Given the description of an element on the screen output the (x, y) to click on. 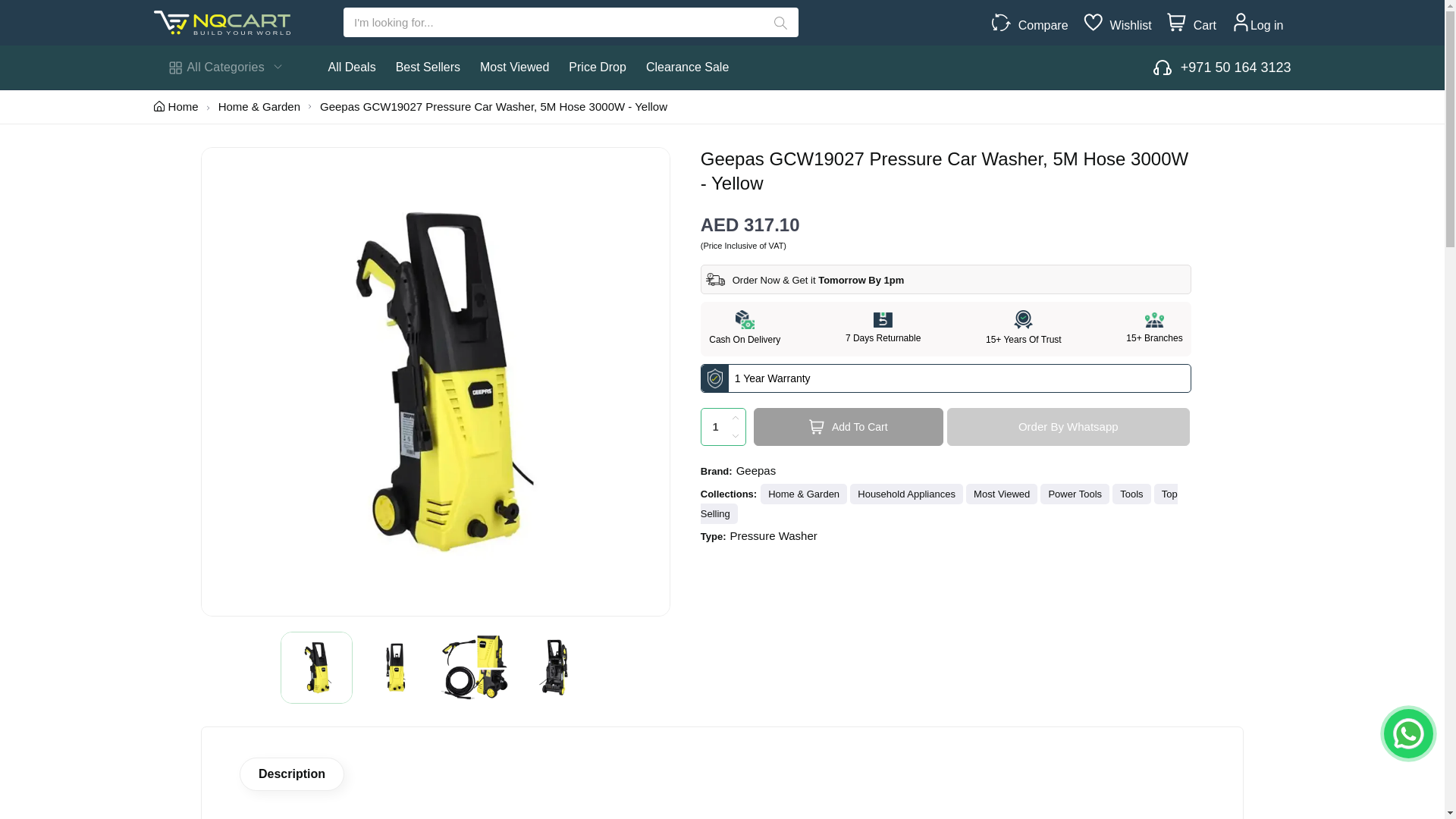
items (1176, 22)
All Categories (224, 67)
Log in (1267, 25)
Wishlist (1126, 25)
1 (723, 426)
Compare (1039, 25)
Cart (1200, 25)
